Given the description of an element on the screen output the (x, y) to click on. 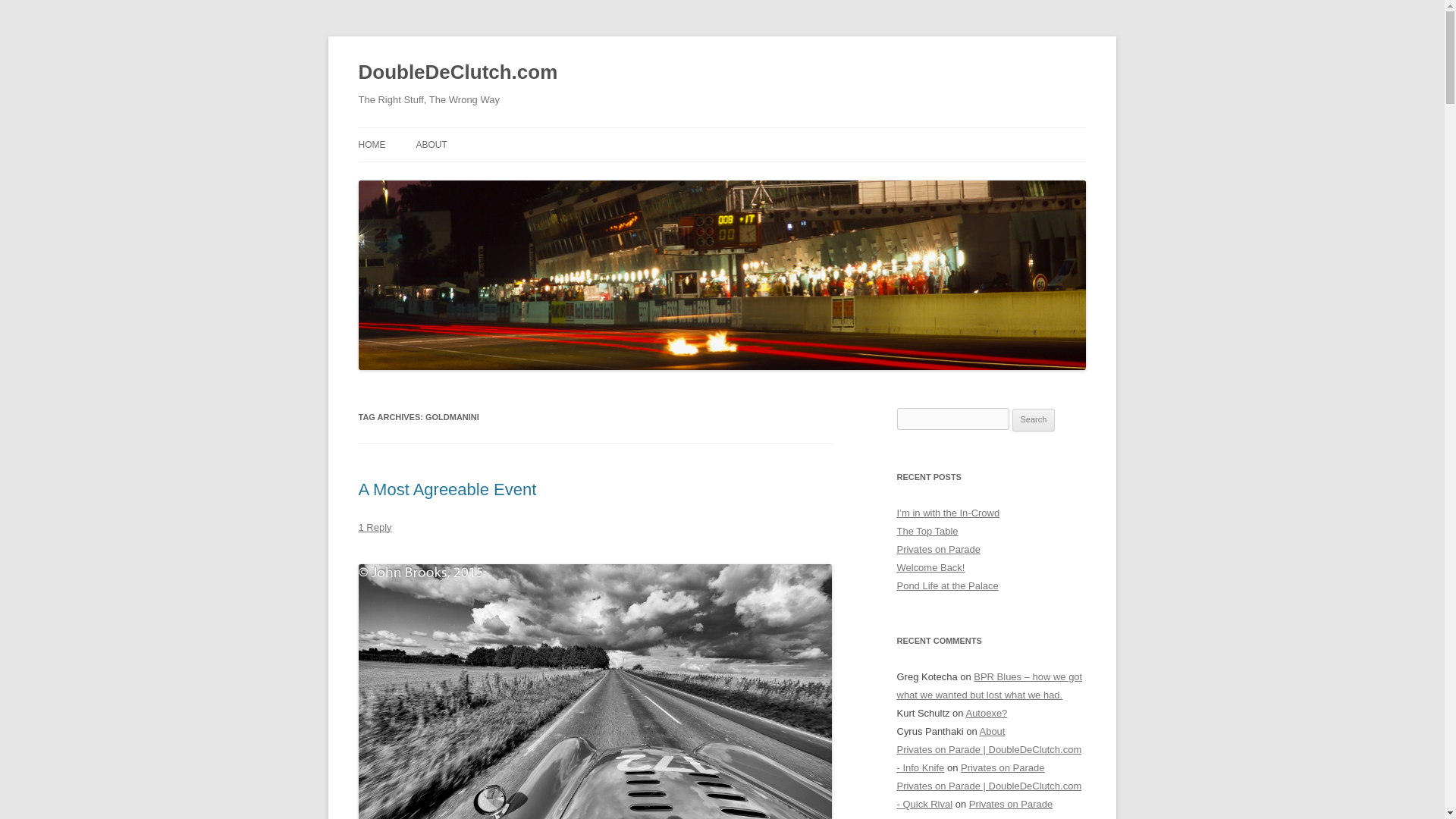
ABOUT (430, 144)
1 Reply (374, 527)
DoubleDeClutch.com (457, 72)
Search (1033, 419)
A Most Agreeable Event (446, 488)
